Given the description of an element on the screen output the (x, y) to click on. 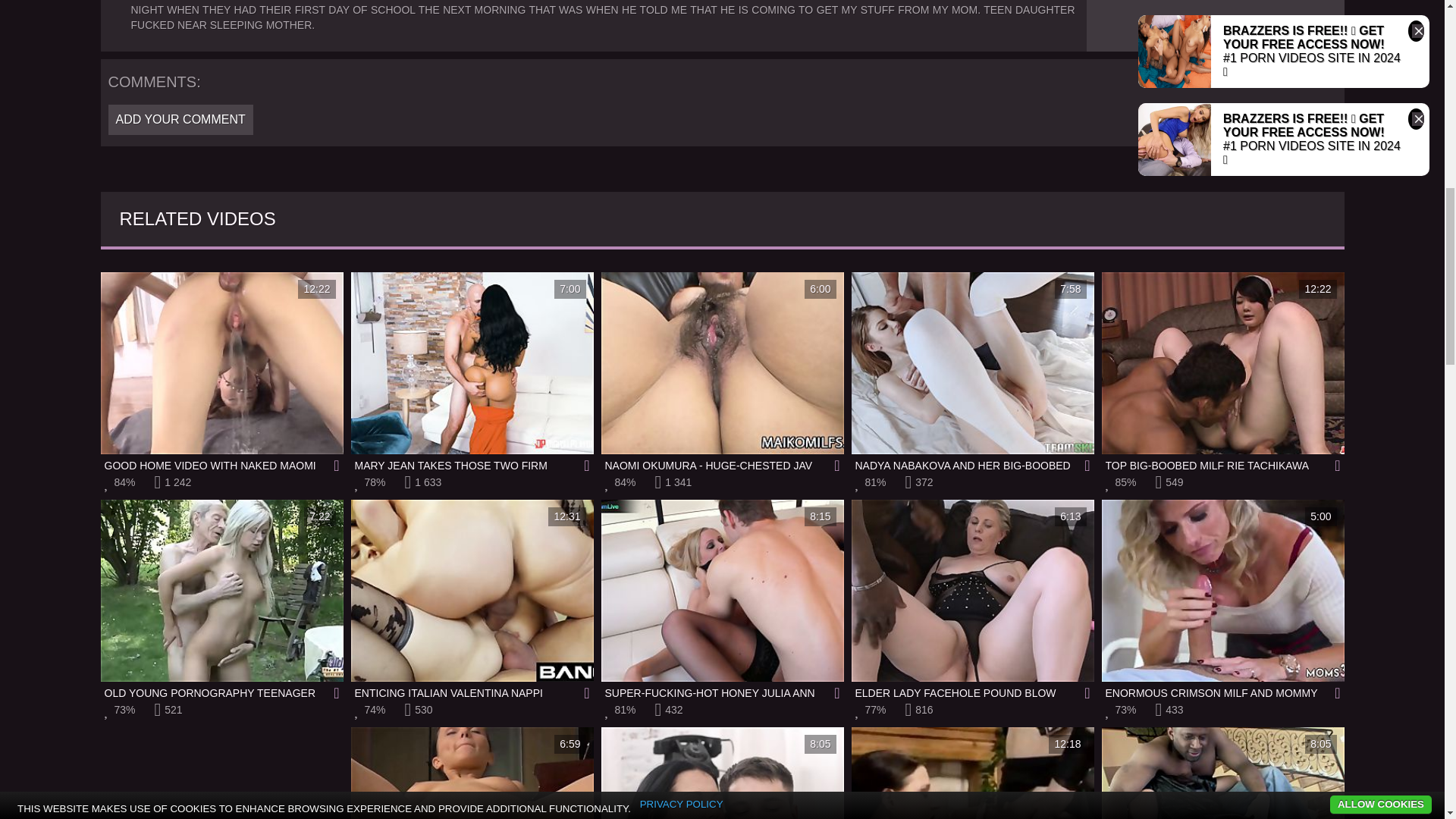
ELDER LADY FACEHOLE POUND BLOW FELLATIO SWALLOWING JIZM (221, 773)
EBONY HAIRED JESSICA LINCOLN PULVERIZED SUPREME (971, 600)
GOOD HOME VIDEO WITH NAKED MAOMI NAGASAWA PLUMBING HARD (721, 773)
MARY JEAN TAKES THOSE TWO FIRM RODS DEEP (221, 372)
TOP BIG-BOOBED MILF RIE TACHIKAWA STRENUOUS ORGY ON WEB CAM (471, 372)
LEENUH RAE TAKES BBC ANALLY AND GULPS (1221, 372)
FINEST BABES HOTTEST CUM SHOTS ON EARTH COMPILATION 93 (1221, 773)
ENTICING ITALIAN VALENTINA NAPPI COMPILATION (971, 773)
